Given the description of an element on the screen output the (x, y) to click on. 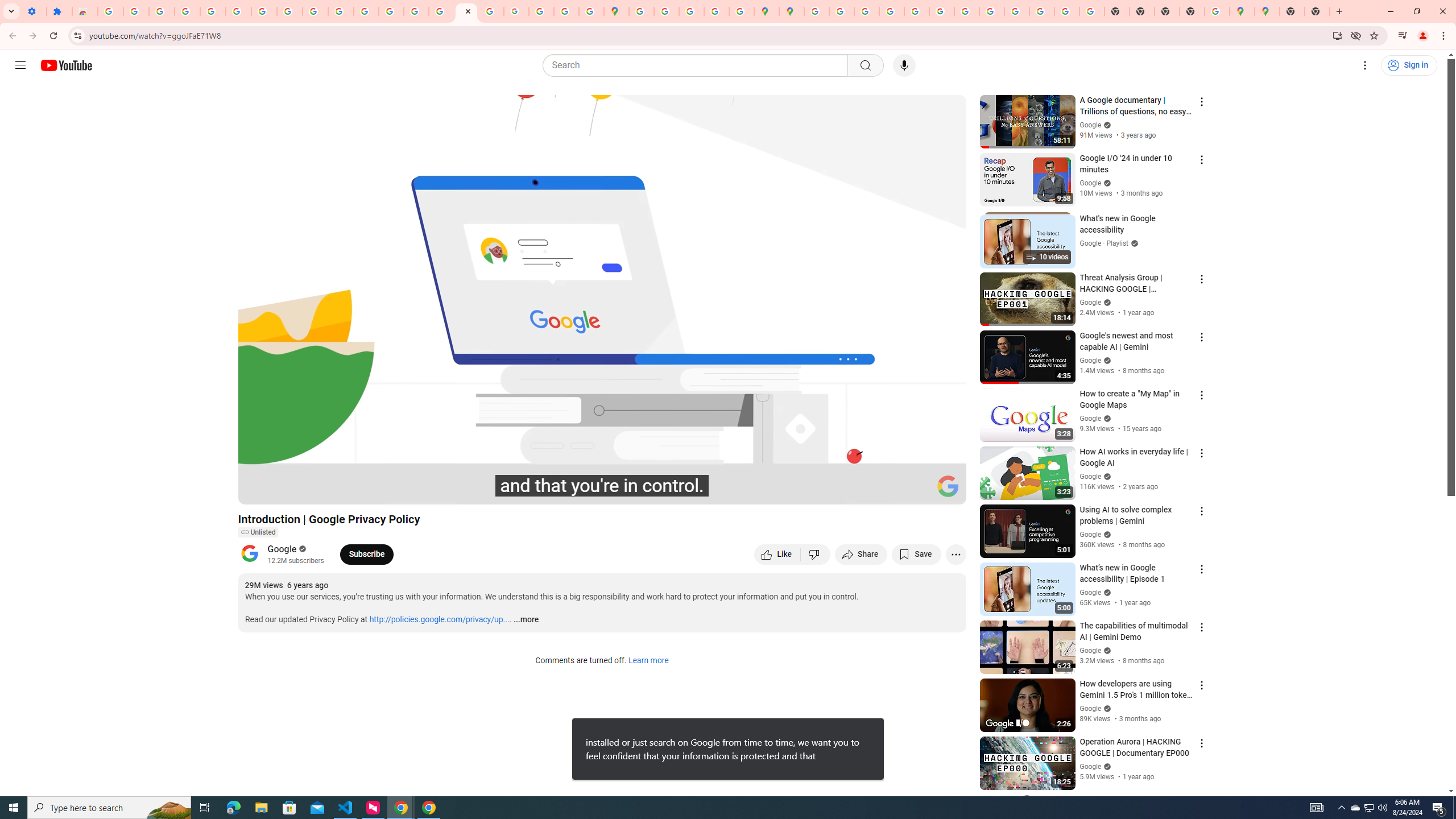
Channel watermark (947, 486)
Save to playlist (915, 554)
Miniplayer (i) (890, 490)
New Tab (1292, 11)
Like (777, 554)
Verified (1106, 766)
